Given the description of an element on the screen output the (x, y) to click on. 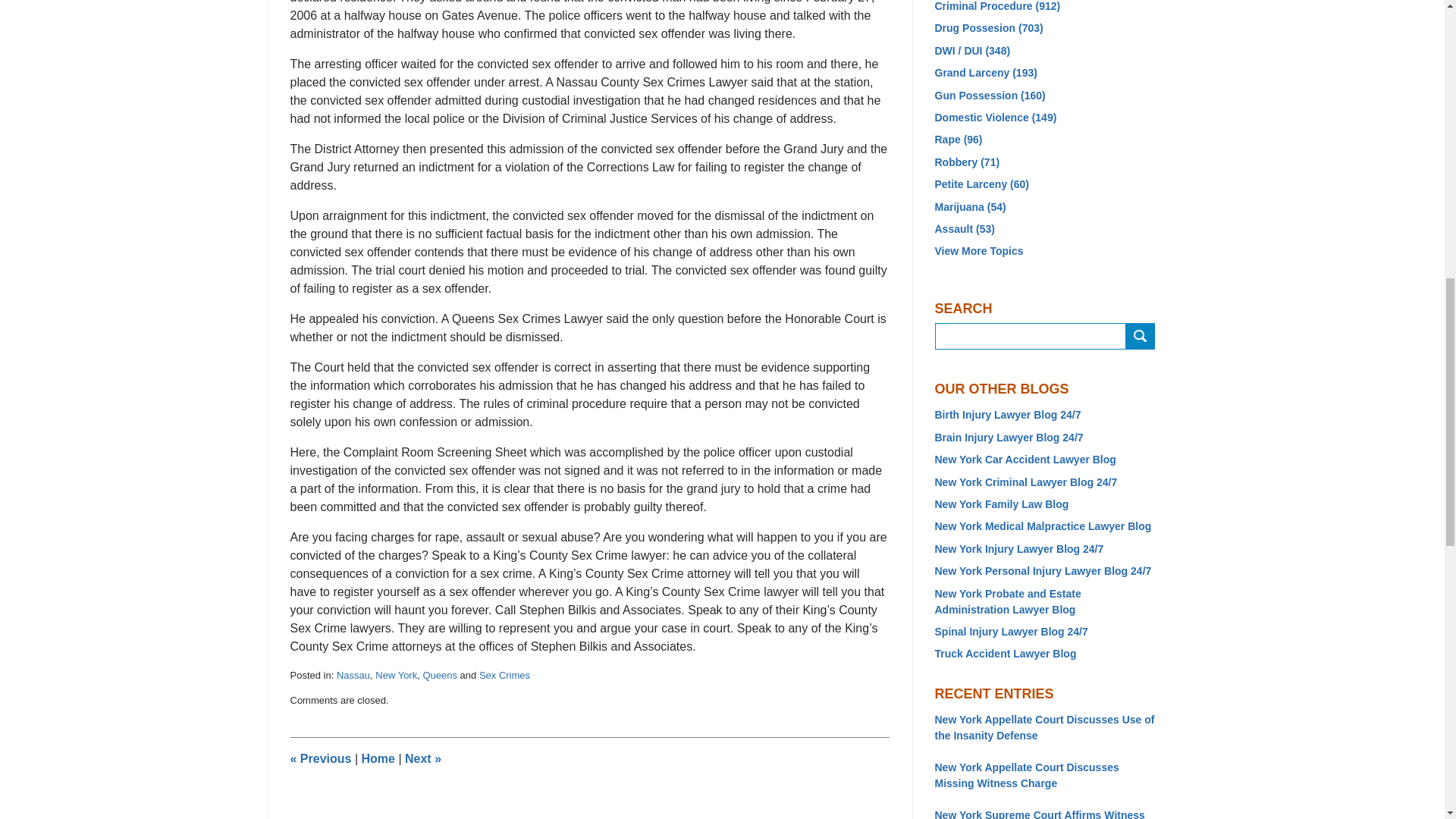
New York (395, 674)
View all posts in New York (395, 674)
View all posts in Sex Crimes (504, 674)
Court Discusses Hearsay in Establishing Criminal History (422, 758)
sex crimes (319, 758)
View all posts in Nassau (352, 674)
View all posts in Queens (439, 674)
Nassau (352, 674)
Queens (439, 674)
Sex Crimes (504, 674)
Home (377, 758)
